Given the description of an element on the screen output the (x, y) to click on. 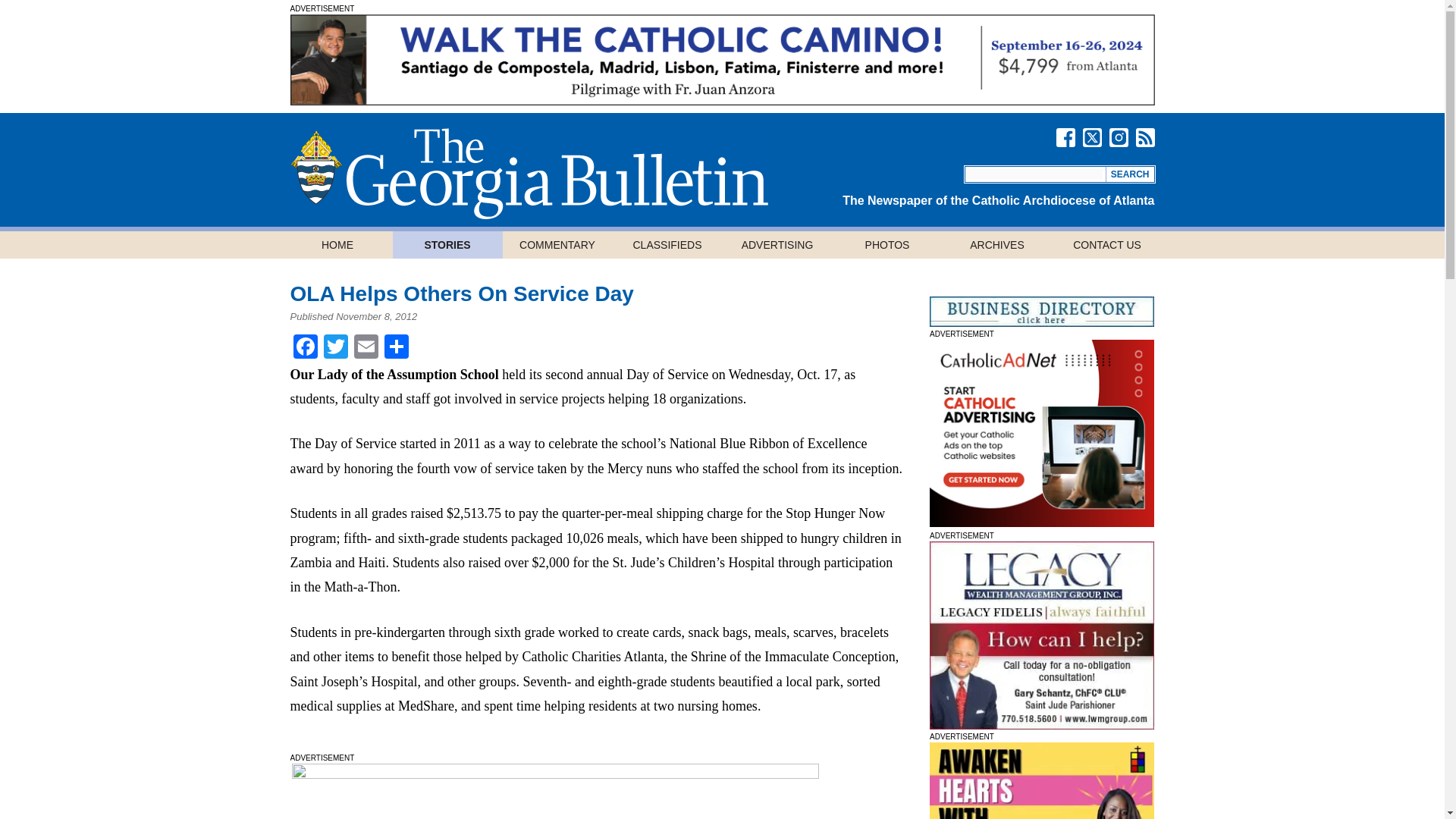
Follow us on Twitter (1092, 137)
Facebook (304, 348)
Georgia Bulletin (528, 173)
Search (1129, 174)
Grab our RSS Feed (1144, 137)
Email (365, 348)
HOME (336, 244)
COMMENTARY (556, 244)
Search (1129, 174)
STORIES (447, 244)
Twitter (335, 348)
Find us on Facebook (1064, 137)
Follow us on Instagram (1117, 137)
